Given the description of an element on the screen output the (x, y) to click on. 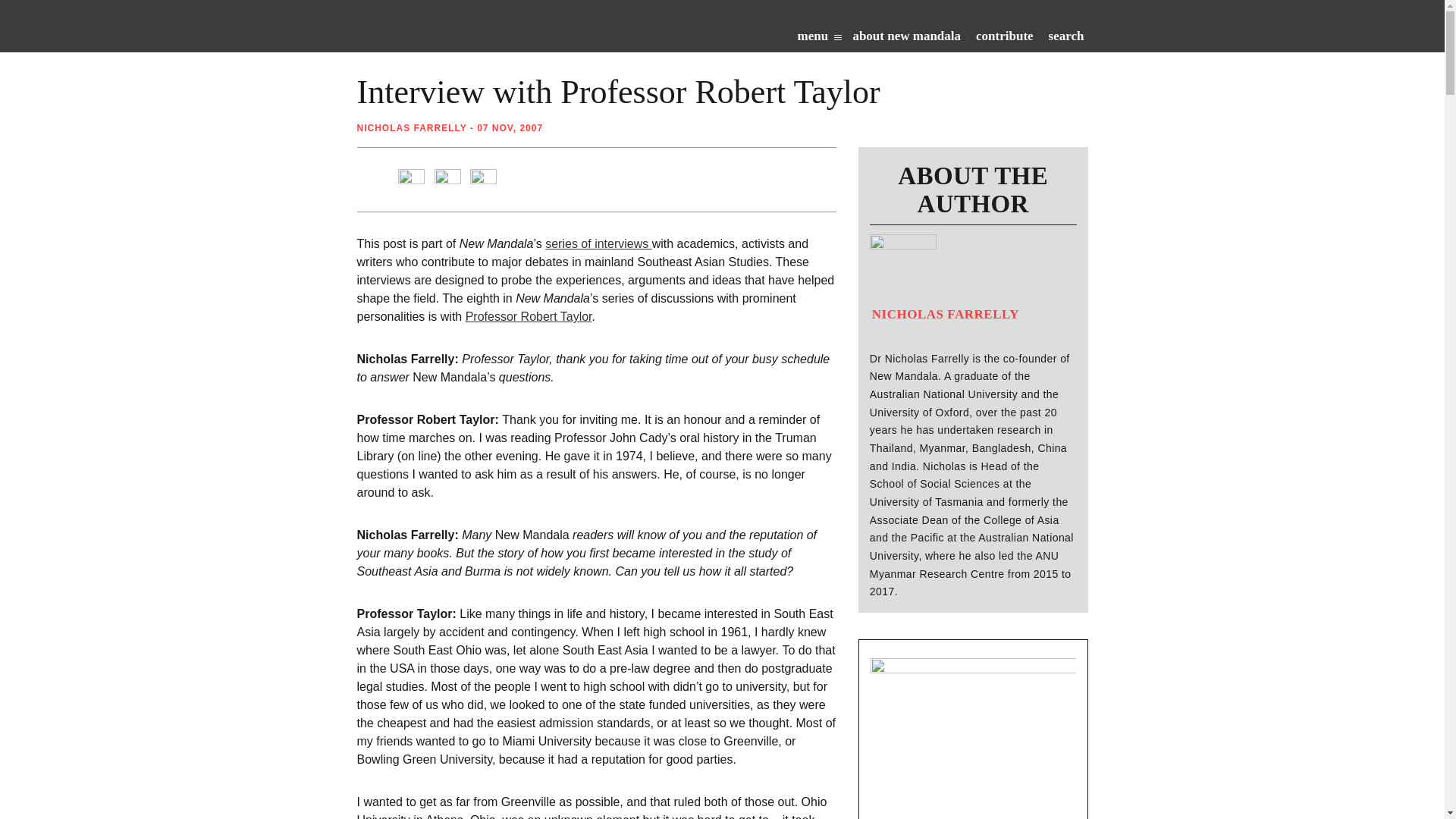
series of interviews (598, 243)
NICHOLAS FARRELLY (944, 310)
about new mandala (905, 39)
NICHOLAS FARRELLY (410, 127)
Search (978, 75)
search (1066, 39)
Interviews (598, 243)
NEW PERSPECTIVES ON SOUTHEAST ASIA (492, 30)
Professor Robert Taylor (528, 316)
contribute (1004, 39)
menu (819, 39)
